Given the description of an element on the screen output the (x, y) to click on. 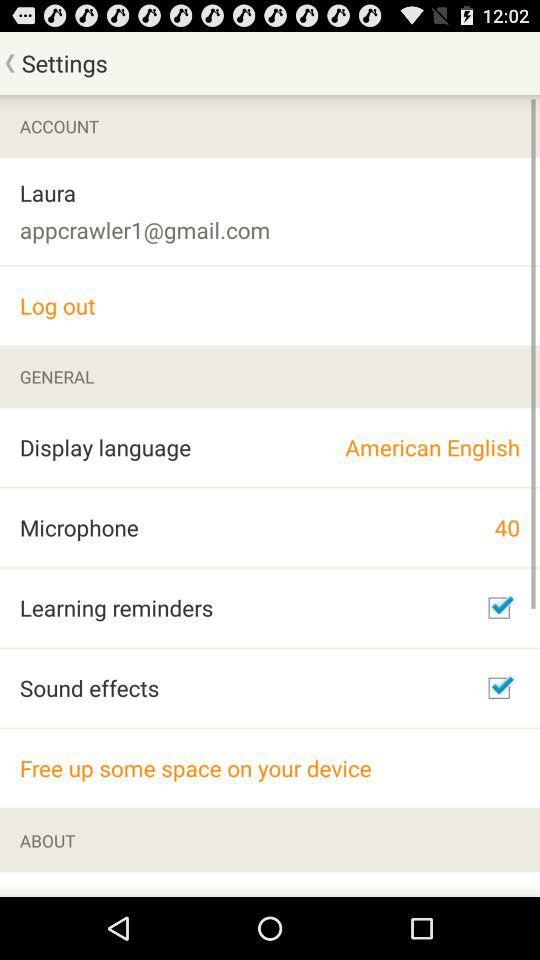
select the item below the appcrawler1@gmail.com icon (270, 305)
